Given the description of an element on the screen output the (x, y) to click on. 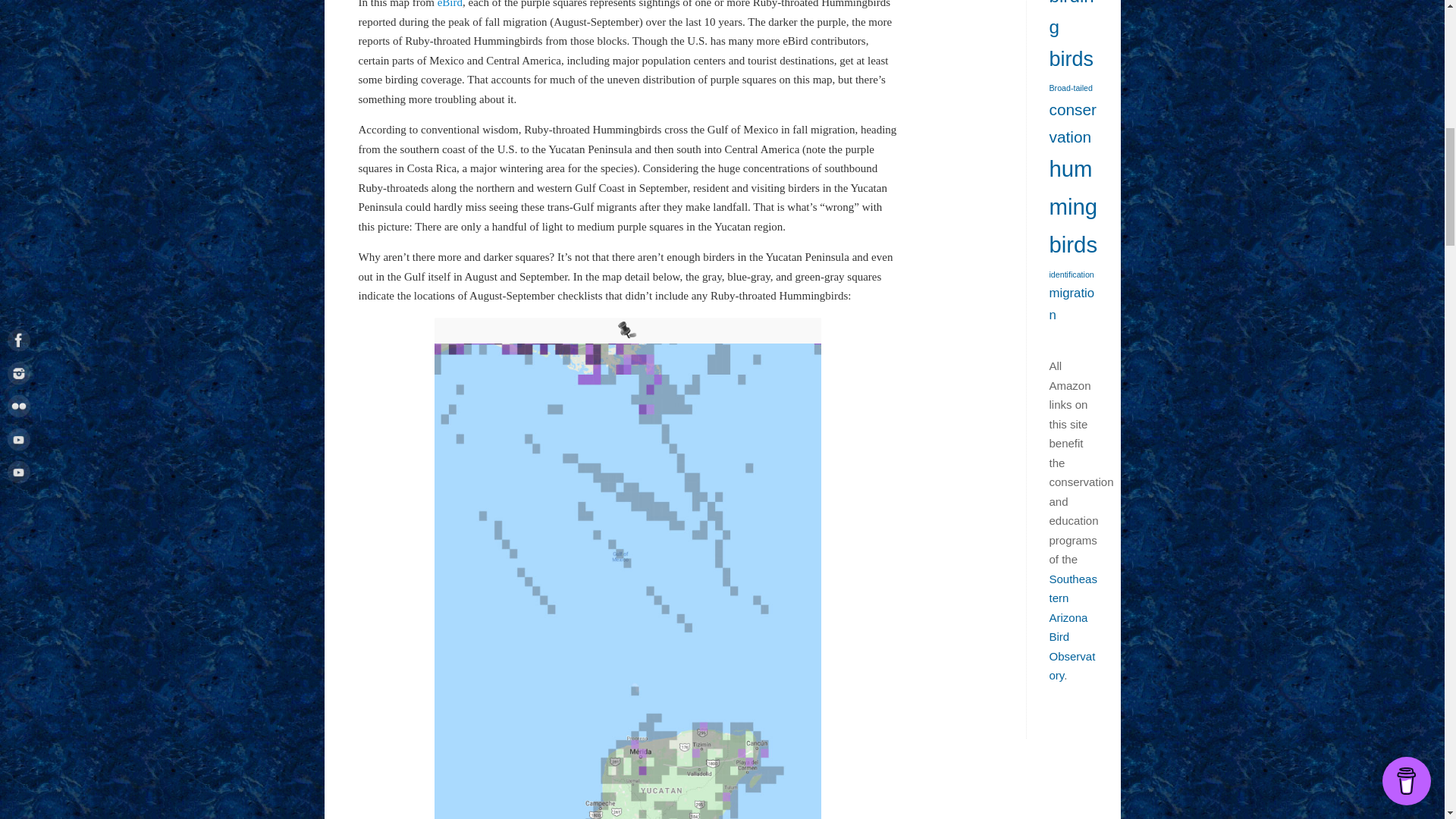
eBird (450, 4)
